Given the description of an element on the screen output the (x, y) to click on. 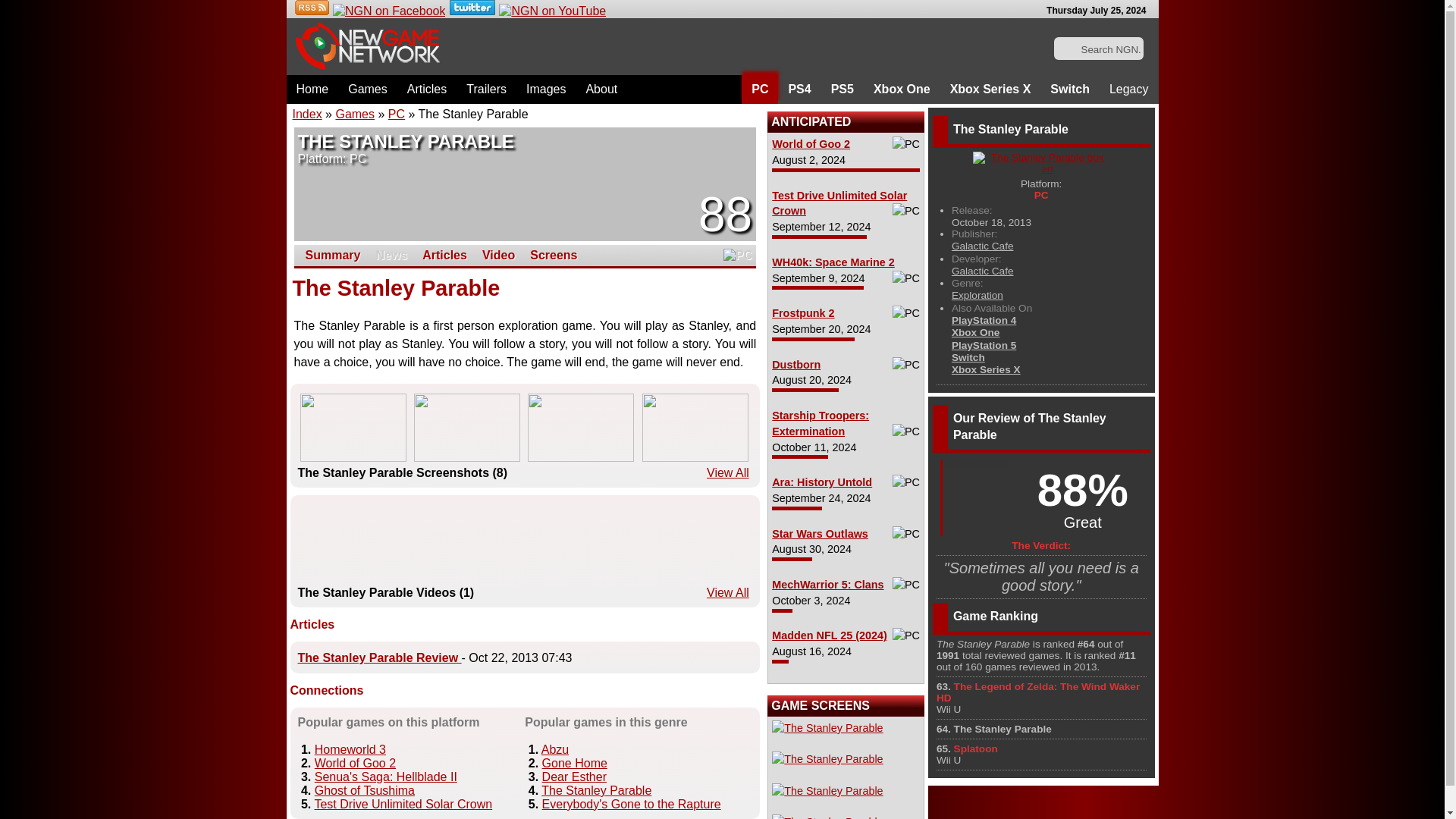
Legacy (1128, 89)
Trailers (486, 89)
Games (367, 89)
Search NGN...  (1100, 48)
About (601, 89)
Articles (427, 89)
Search NGN...  (1100, 48)
Home (312, 89)
Images (545, 89)
